Given the description of an element on the screen output the (x, y) to click on. 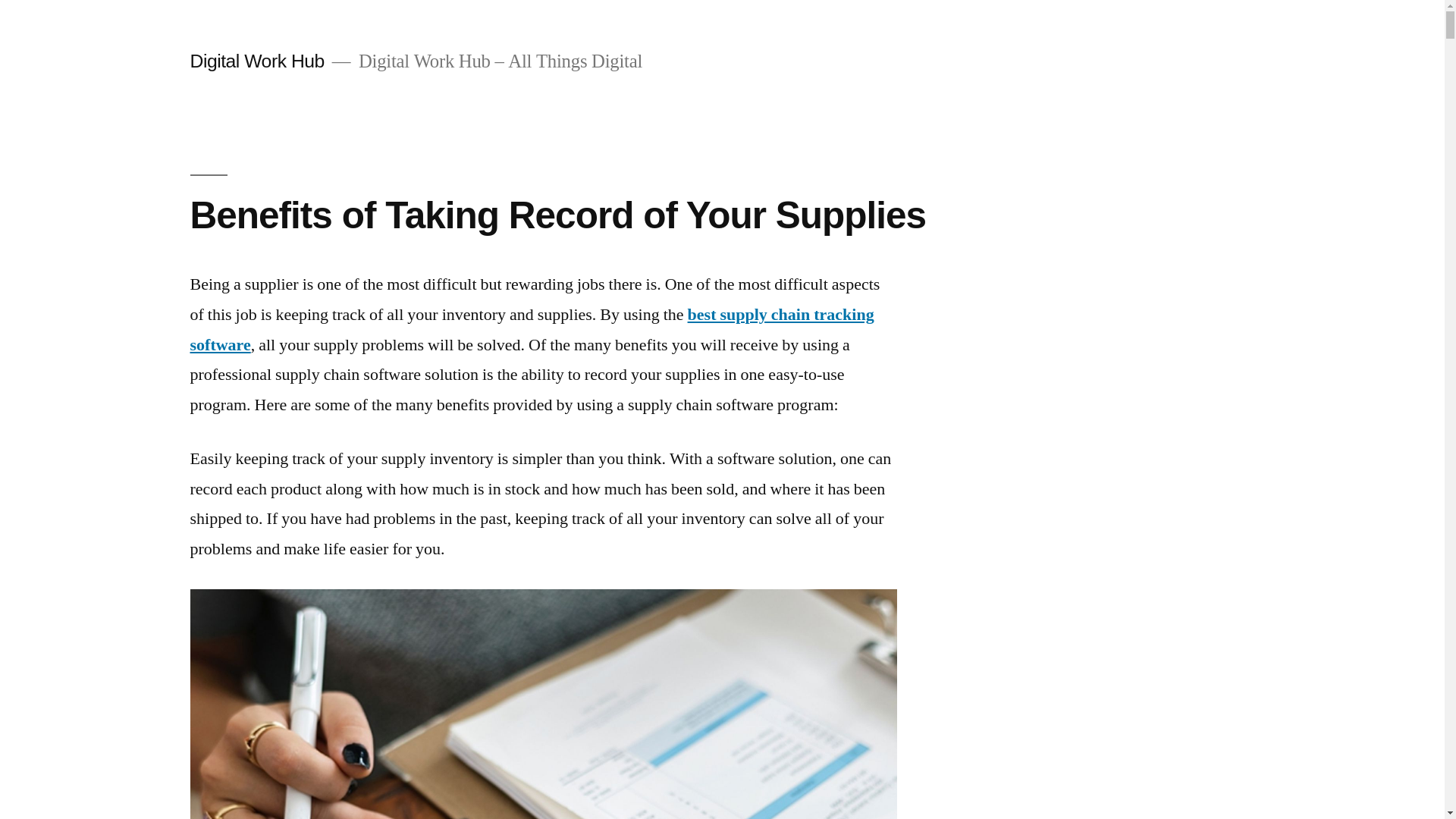
Benefits of Taking Record of Your Supplies Element type: text (557, 214)
Digital Work Hub Element type: text (256, 60)
best supply chain tracking software Element type: text (531, 329)
